Given the description of an element on the screen output the (x, y) to click on. 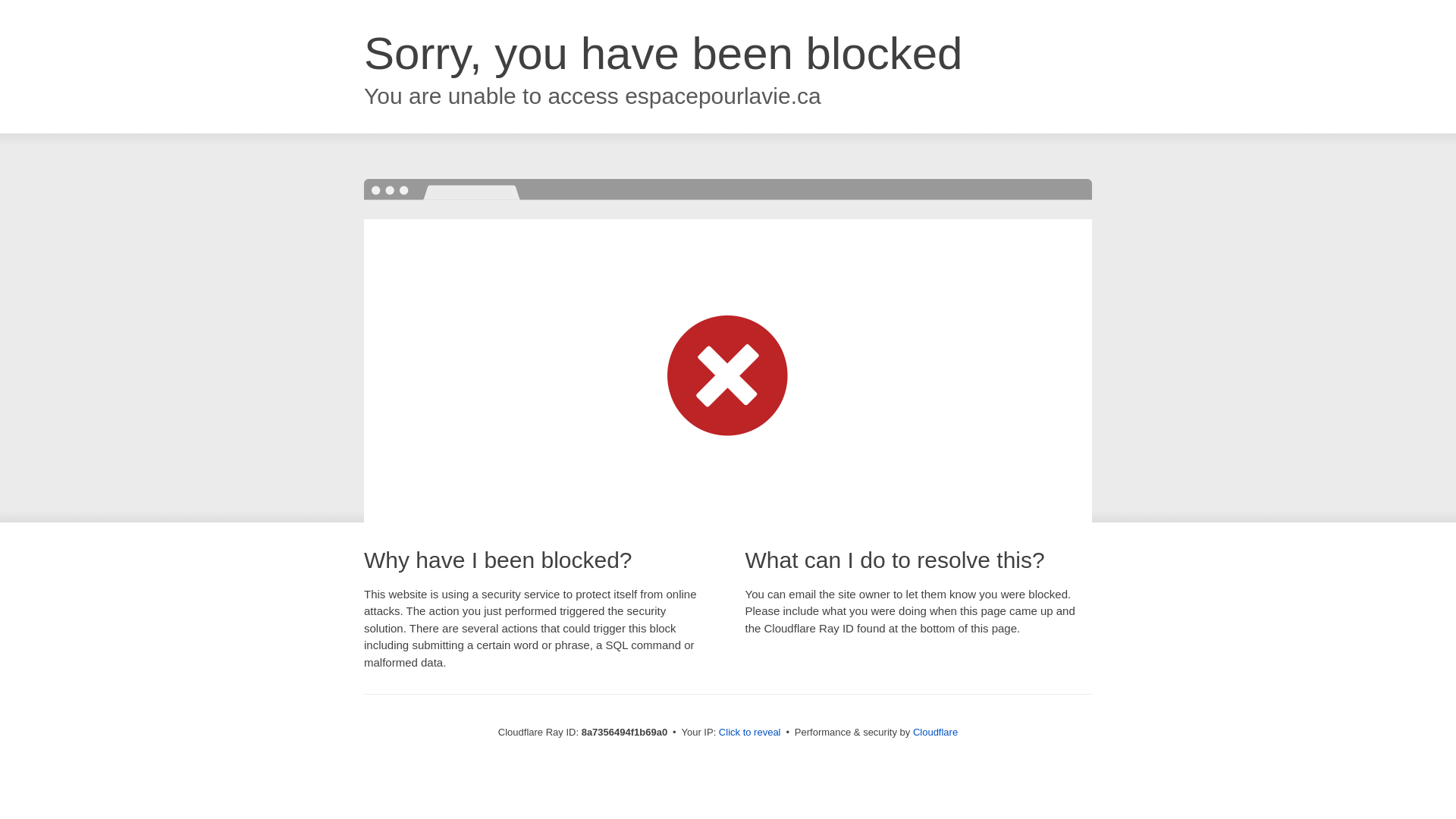
Click to reveal (749, 732)
Cloudflare (935, 731)
